Given the description of an element on the screen output the (x, y) to click on. 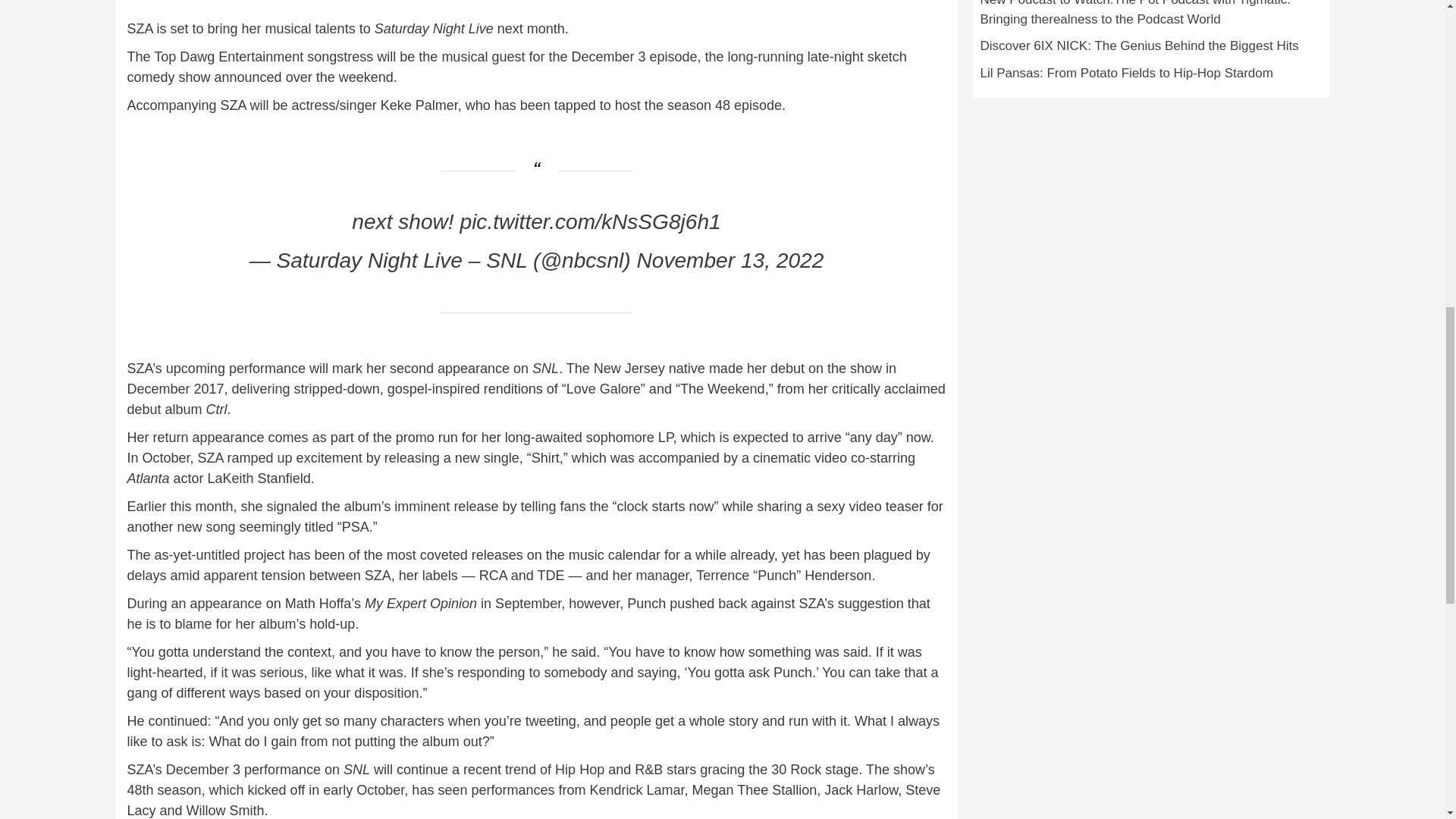
Discover 6IX NICK: The Genius Behind the Biggest Hits (1149, 49)
Lil Pansas: From Potato Fields to Hip-Hop Stardom (1149, 76)
